Given the description of an element on the screen output the (x, y) to click on. 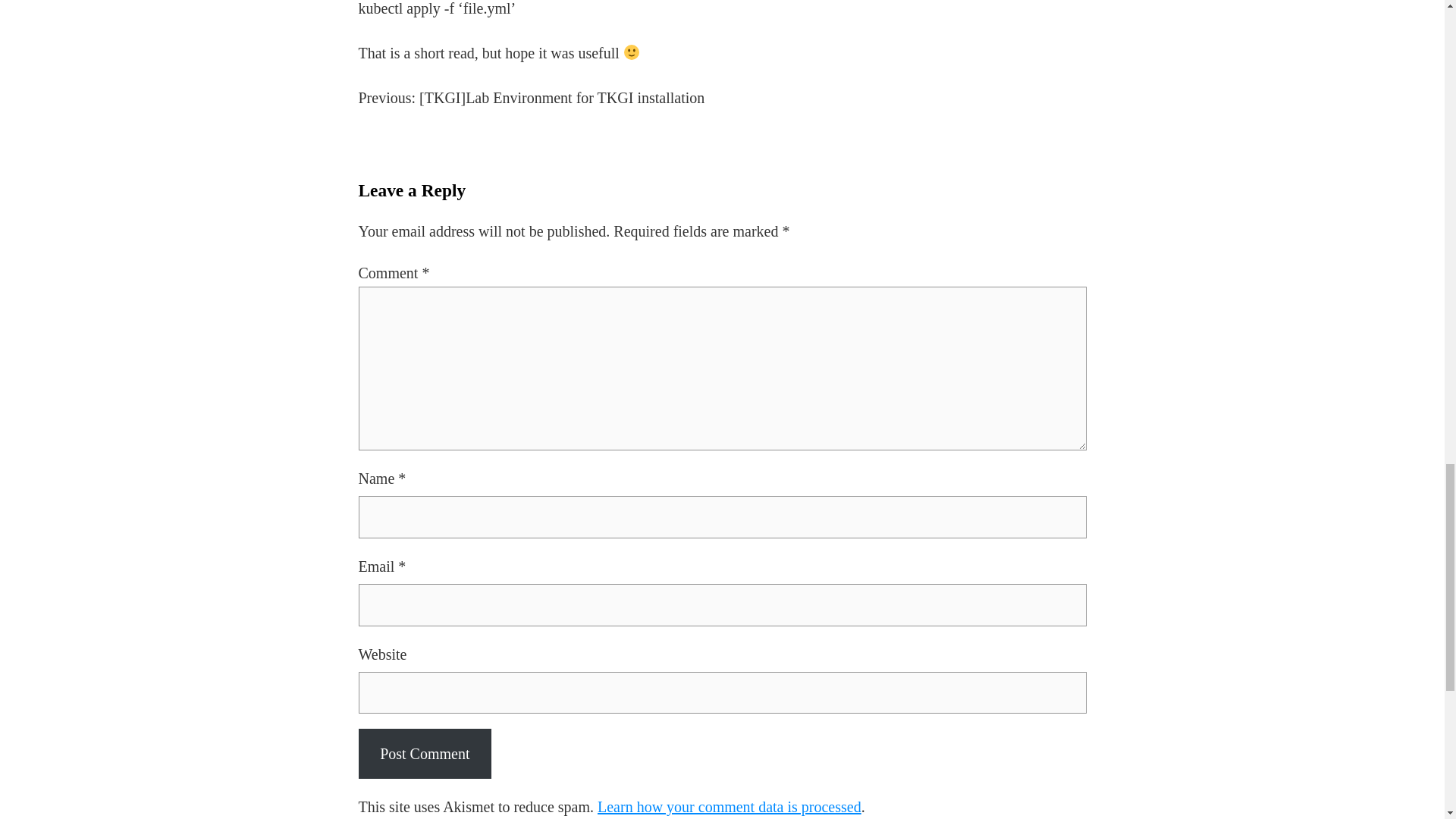
Post Comment (425, 753)
Learn how your comment data is processed (728, 806)
Post Comment (425, 753)
